Given the description of an element on the screen output the (x, y) to click on. 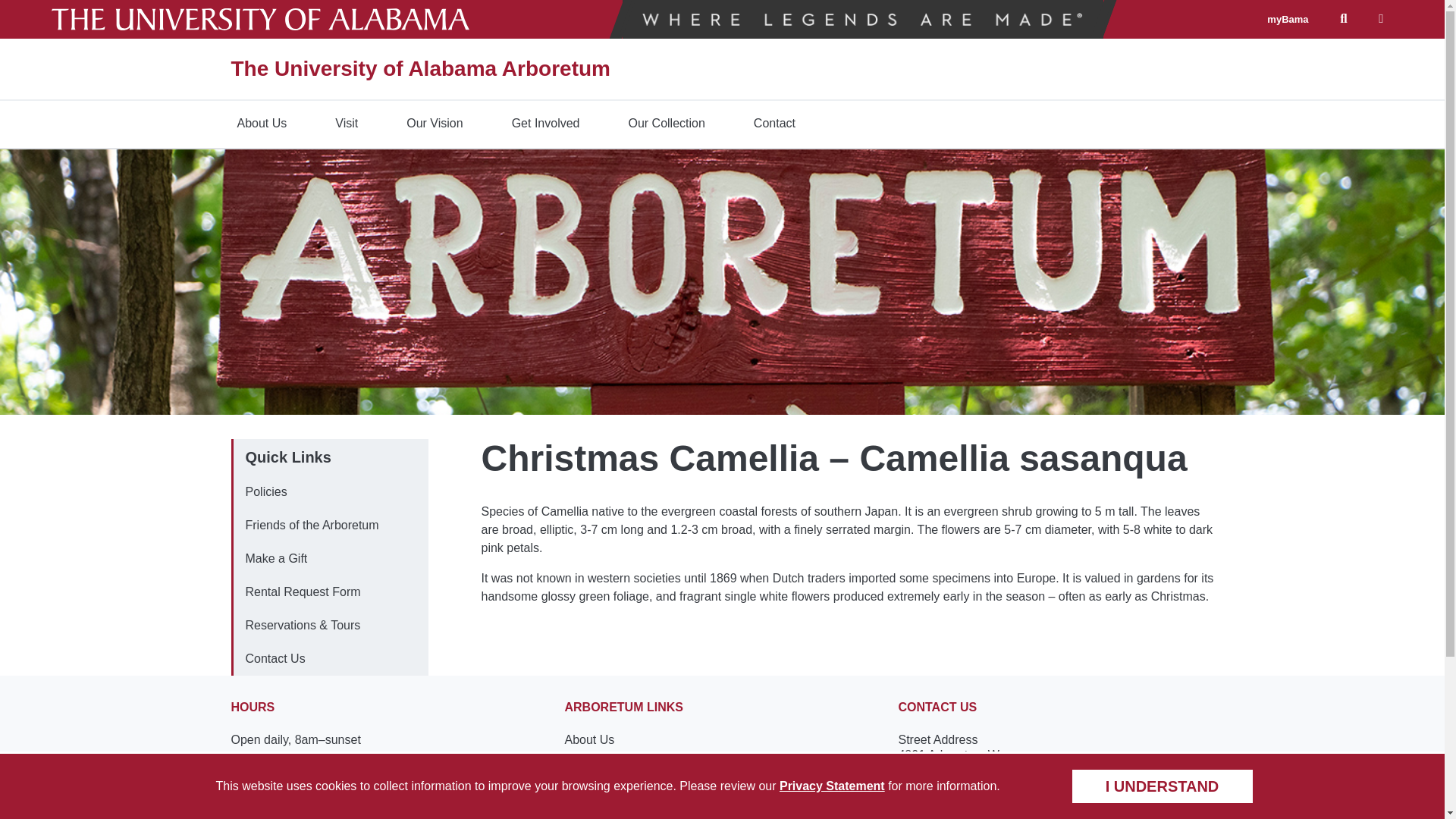
Visit (346, 123)
myBama (1287, 19)
Our Vision (434, 123)
Get Involved (545, 123)
Our Vision (434, 123)
Get Involved (545, 123)
Where Legends Are Made (862, 19)
The University of Alabama (260, 19)
About Us (261, 123)
Visit (346, 123)
